Given the description of an element on the screen output the (x, y) to click on. 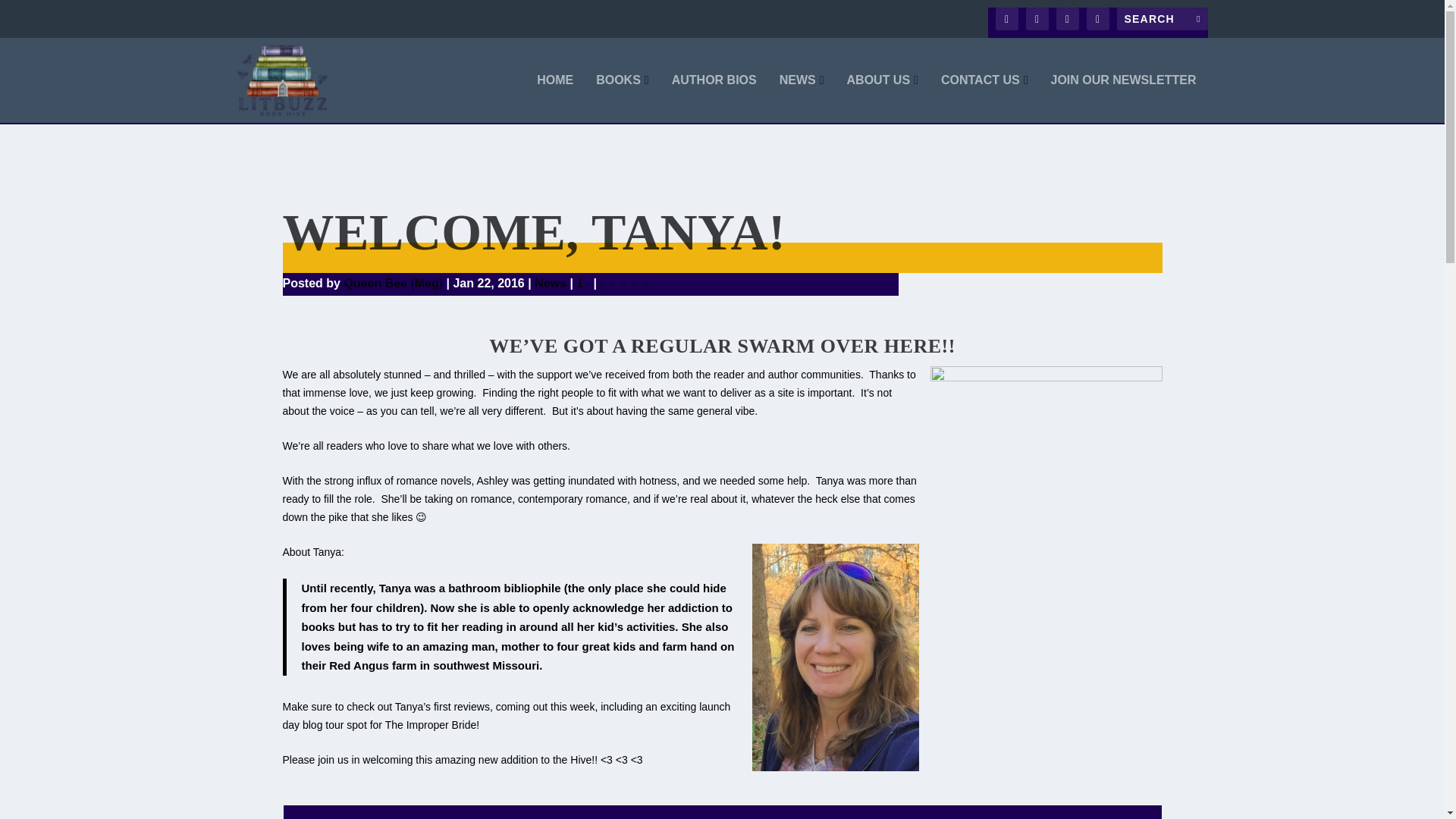
NEWS (801, 98)
AUTHOR BIOS (714, 98)
Rating: 0.00 (624, 283)
ABOUT US (882, 98)
BOOKS (622, 98)
JOIN OUR NEWSLETTER (1122, 98)
CONTACT US (983, 98)
Search for: (1161, 18)
